Given the description of an element on the screen output the (x, y) to click on. 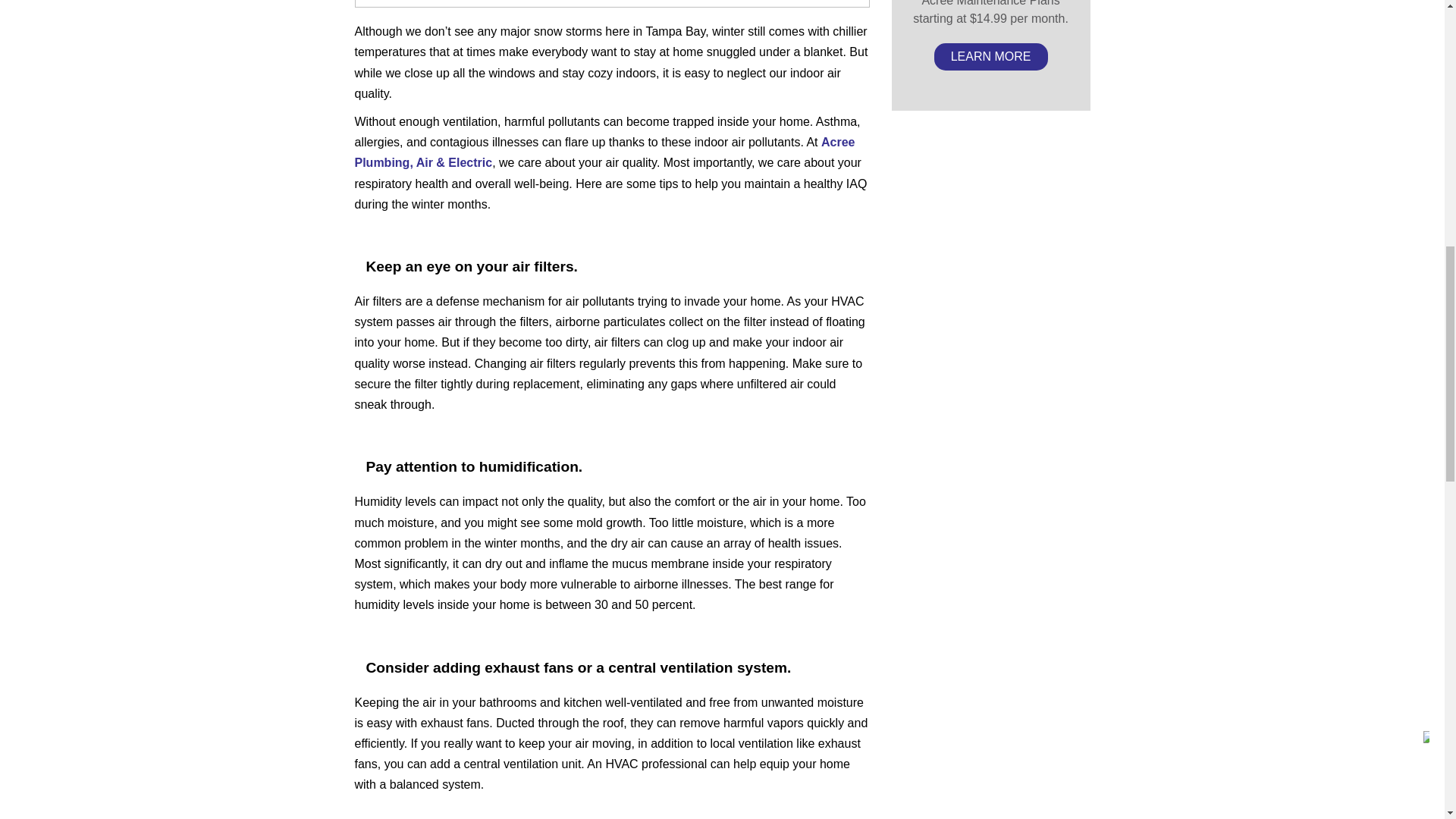
Healthy Winter IAQ (612, 3)
